Given the description of an element on the screen output the (x, y) to click on. 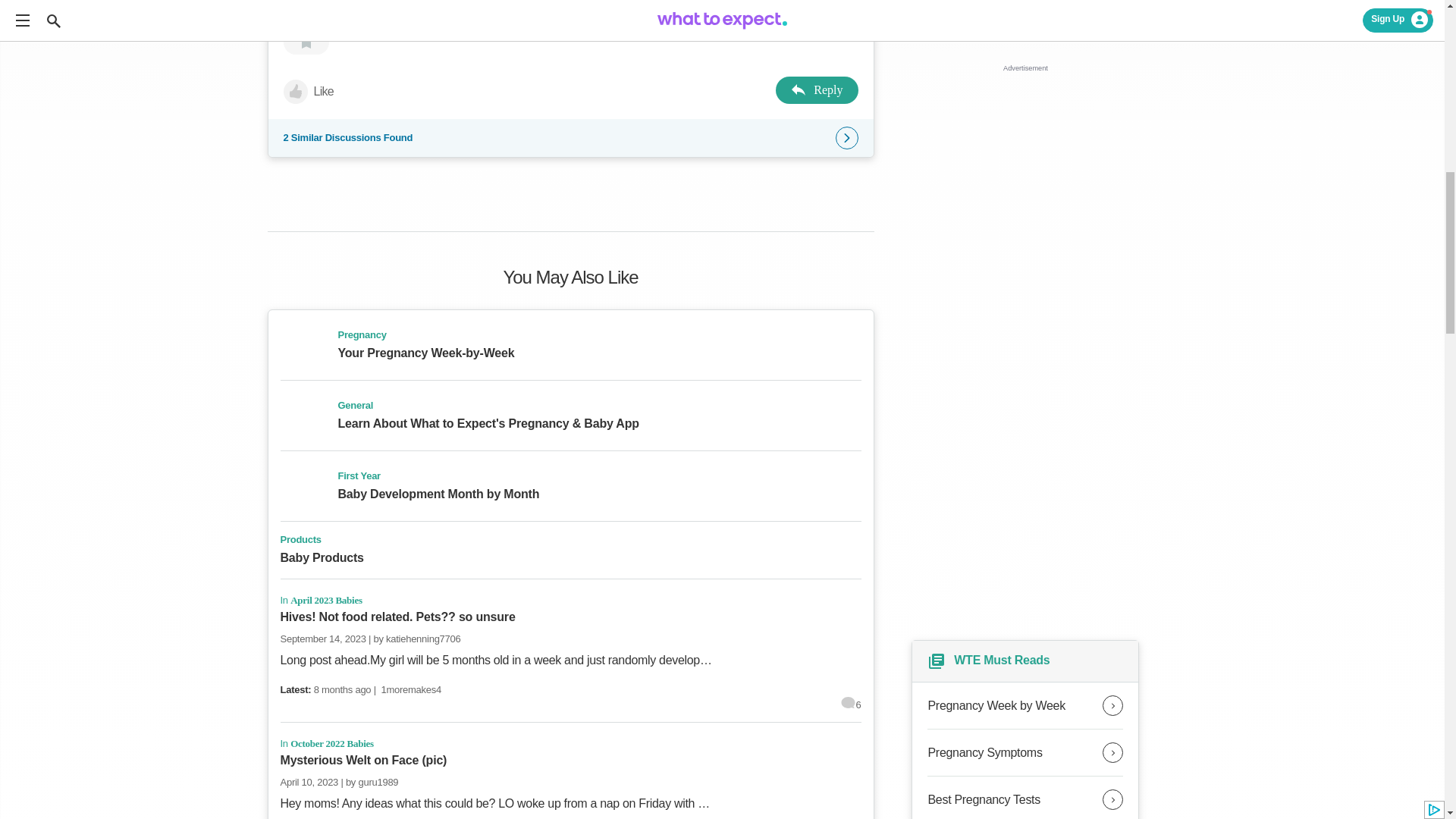
Best Pregnancy Tests (1024, 797)
Pregnancy Symptoms (1024, 752)
Pregnancy Week by Week (1024, 705)
